Given the description of an element on the screen output the (x, y) to click on. 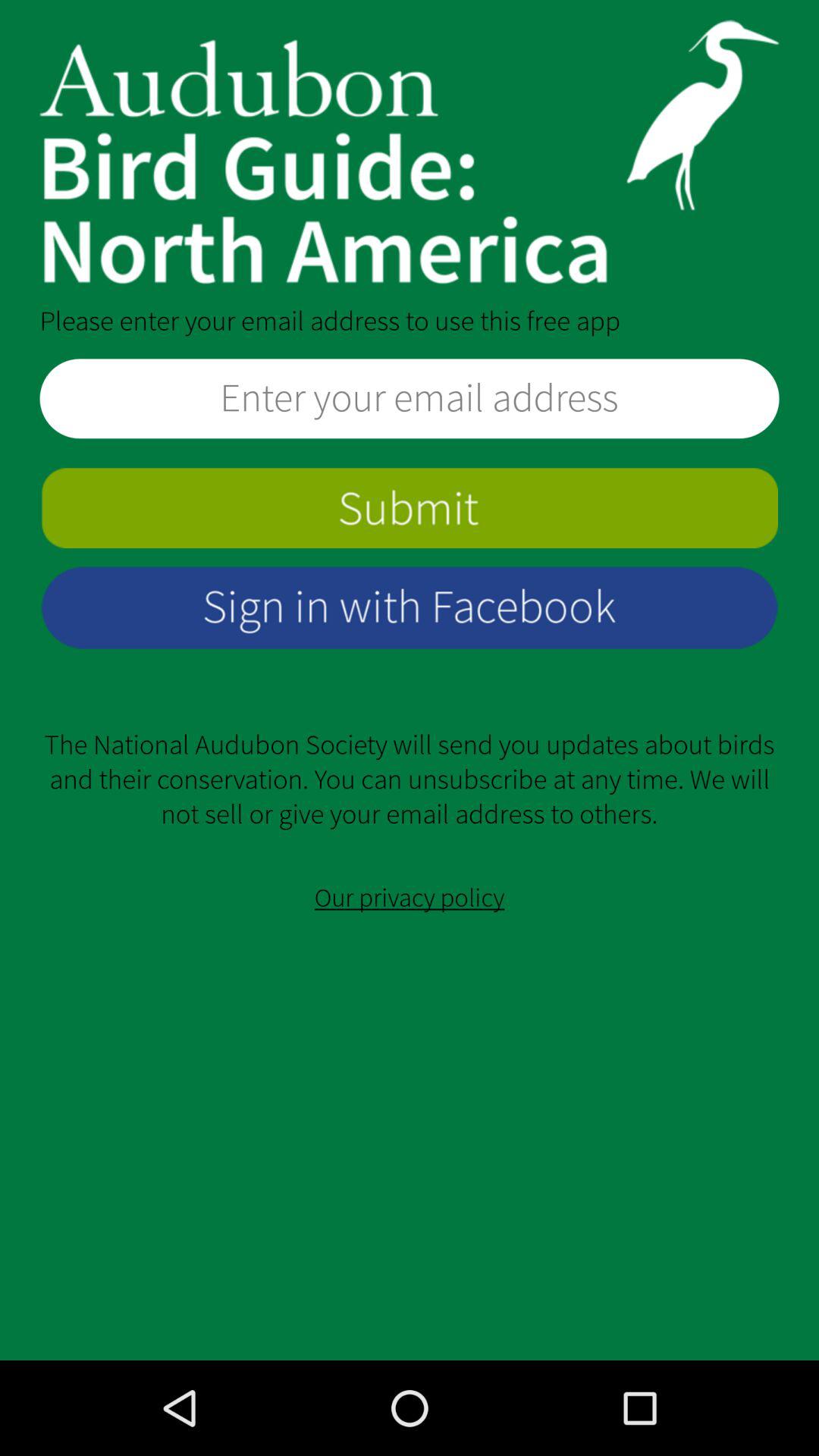
open home page (409, 151)
